Given the description of an element on the screen output the (x, y) to click on. 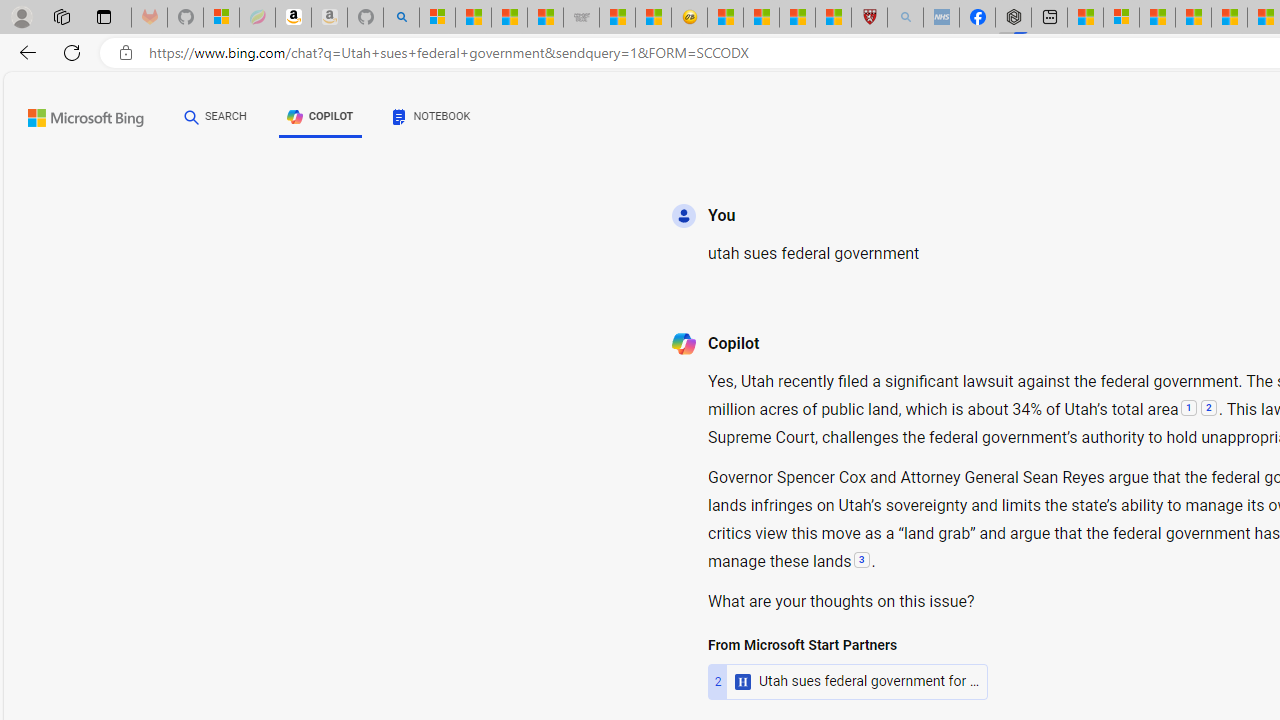
NOTEBOOK (431, 120)
